Given the description of an element on the screen output the (x, y) to click on. 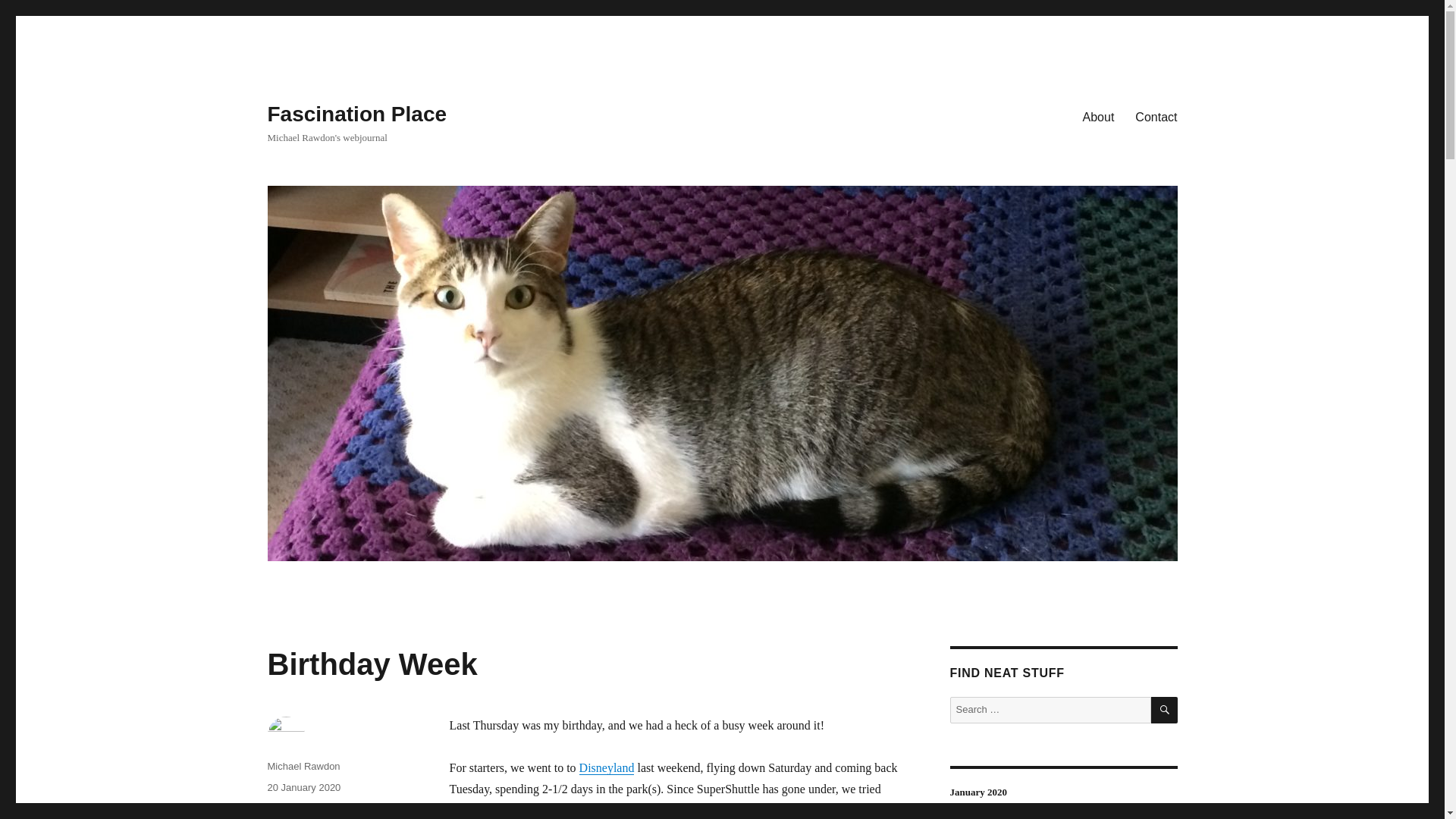
Contact (1156, 116)
Personal (380, 808)
Fascination Place (356, 114)
SEARCH (1164, 709)
Magic the Gathering (310, 808)
20 January 2020 (303, 787)
About (1098, 116)
Wingz (464, 809)
Michael Rawdon (302, 766)
Disneyland (606, 767)
